Given the description of an element on the screen output the (x, y) to click on. 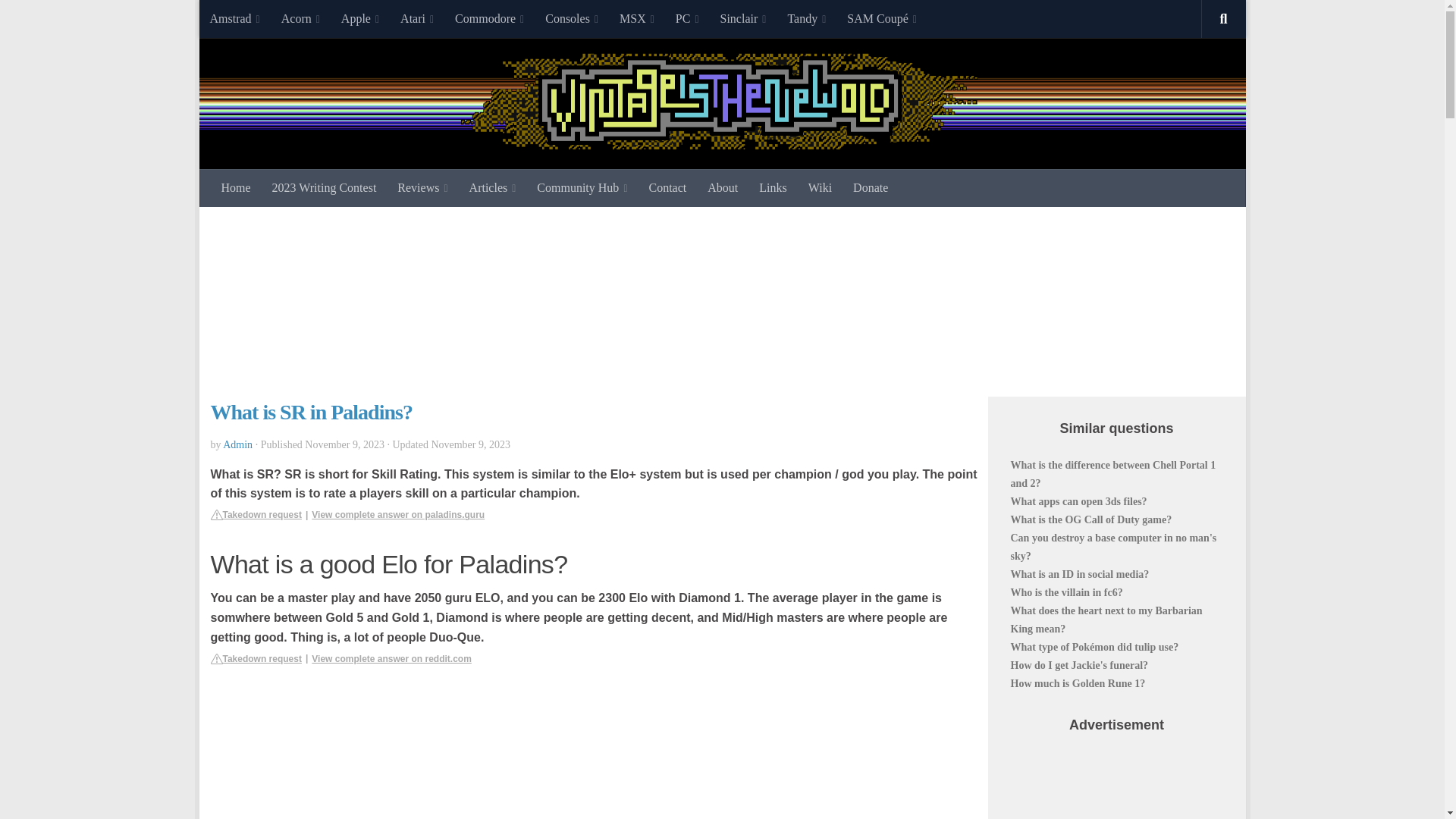
Posts by Admin (236, 443)
